Given the description of an element on the screen output the (x, y) to click on. 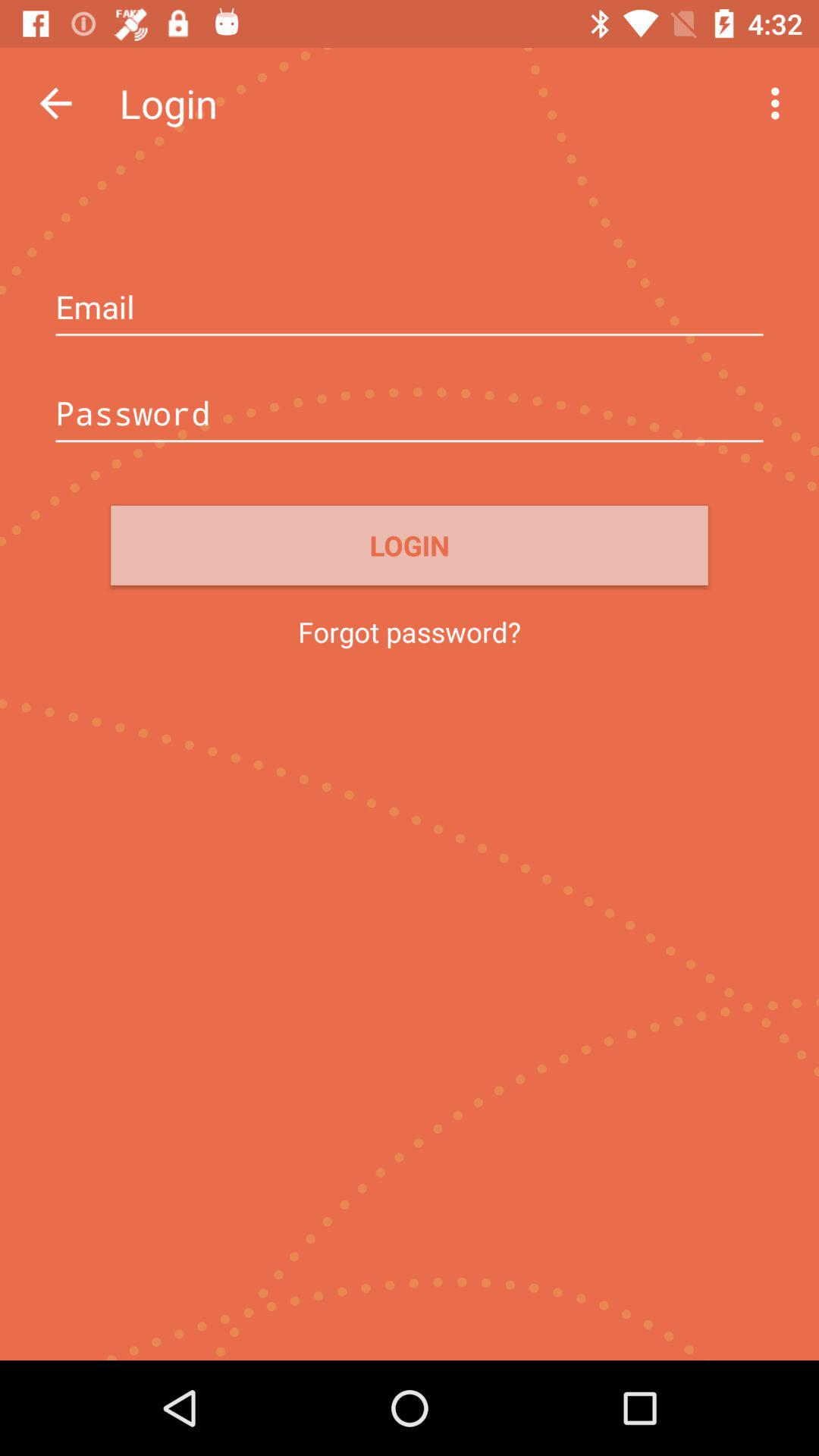
go back (55, 103)
